Given the description of an element on the screen output the (x, y) to click on. 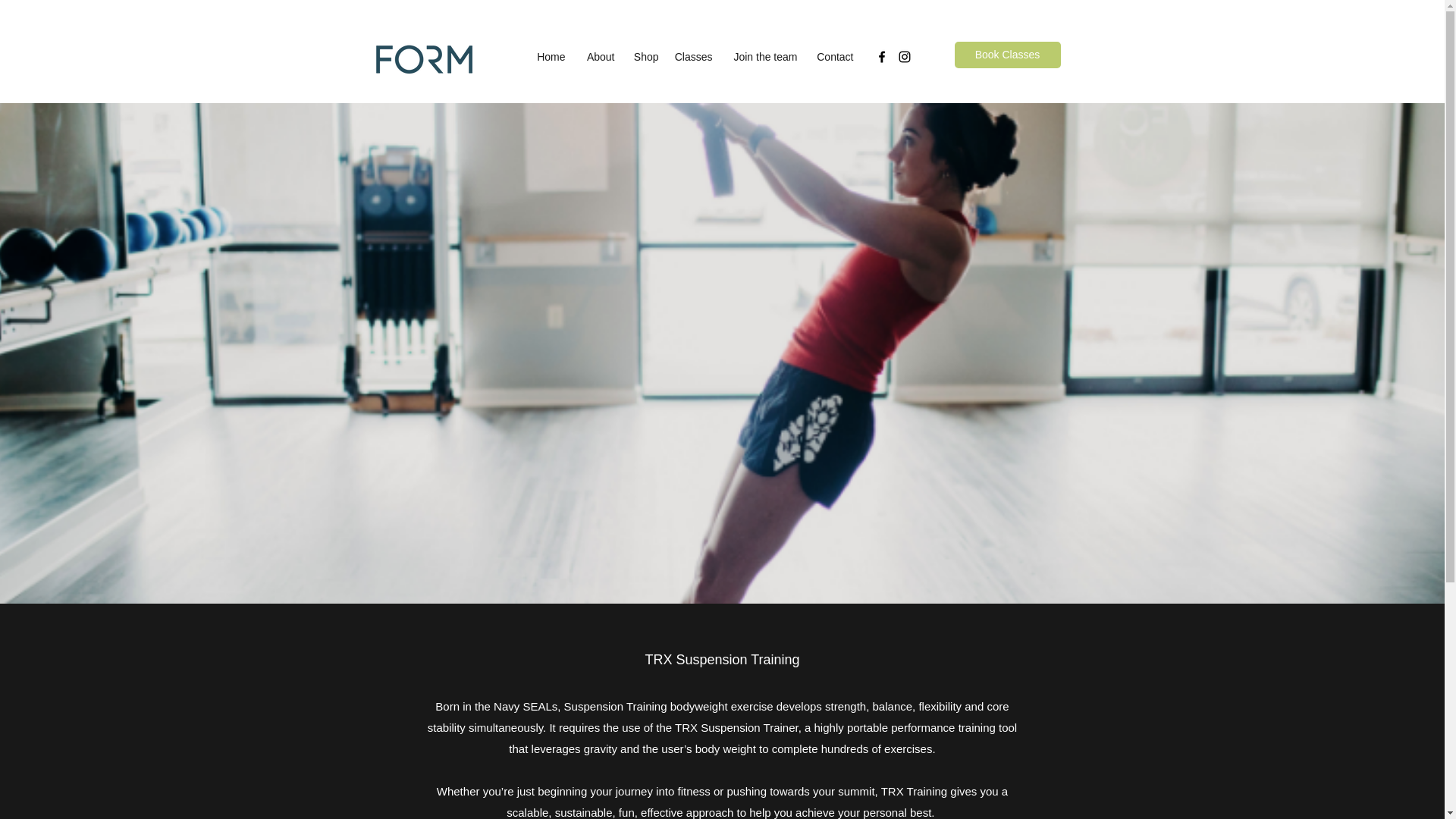
Shop (643, 56)
Contact (833, 56)
Join the team (762, 56)
Book Classes (1006, 54)
Classes (692, 56)
Home (548, 56)
About (598, 56)
